Given the description of an element on the screen output the (x, y) to click on. 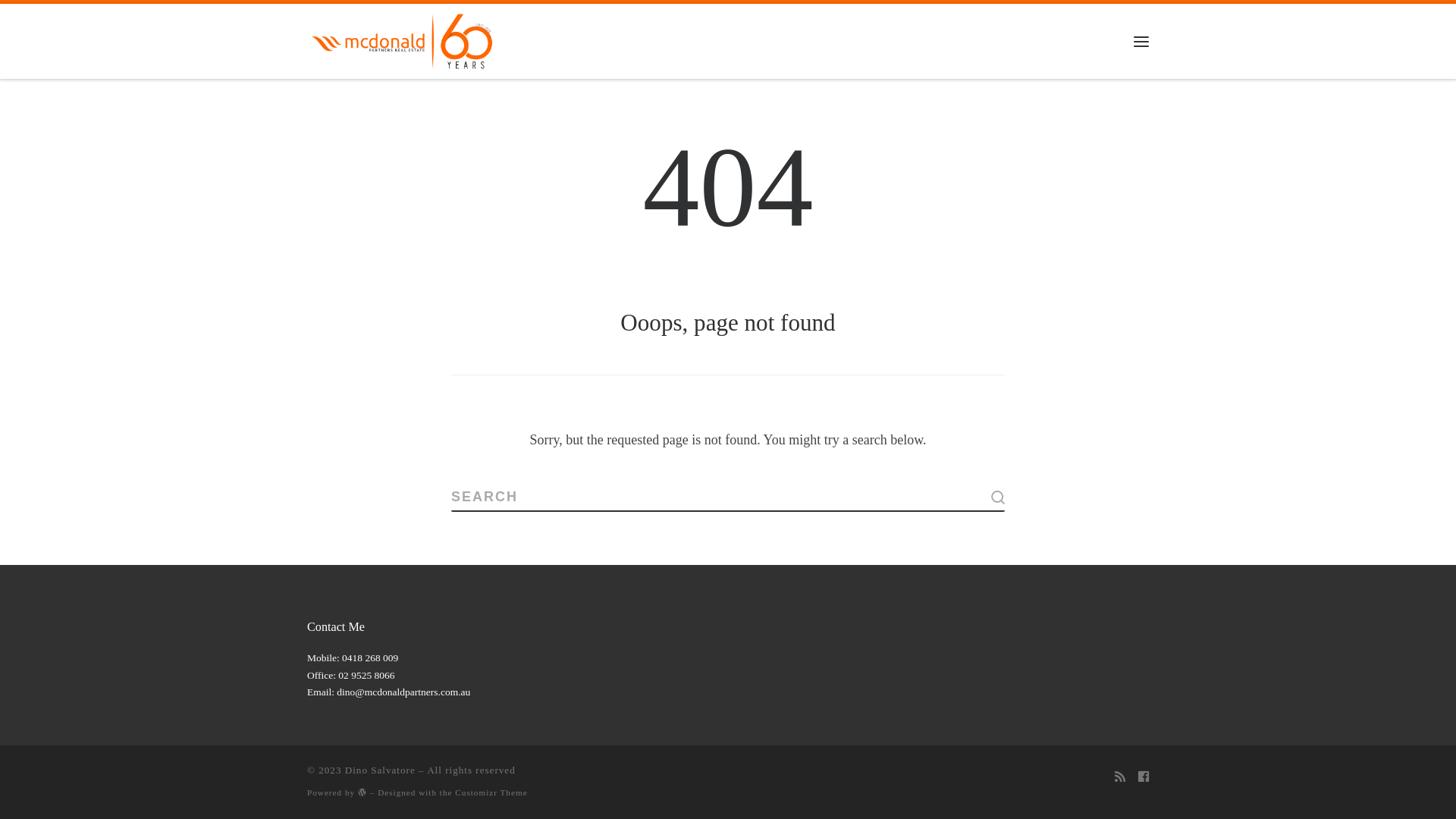
Subscribe to my RSS Feed Element type: hover (1119, 776)
Powered by WordPress Element type: hover (362, 791)
Customizr Theme Element type: text (491, 792)
Follow us on Facebook Element type: hover (1143, 776)
Dino Salvatore Element type: text (380, 769)
